Given the description of an element on the screen output the (x, y) to click on. 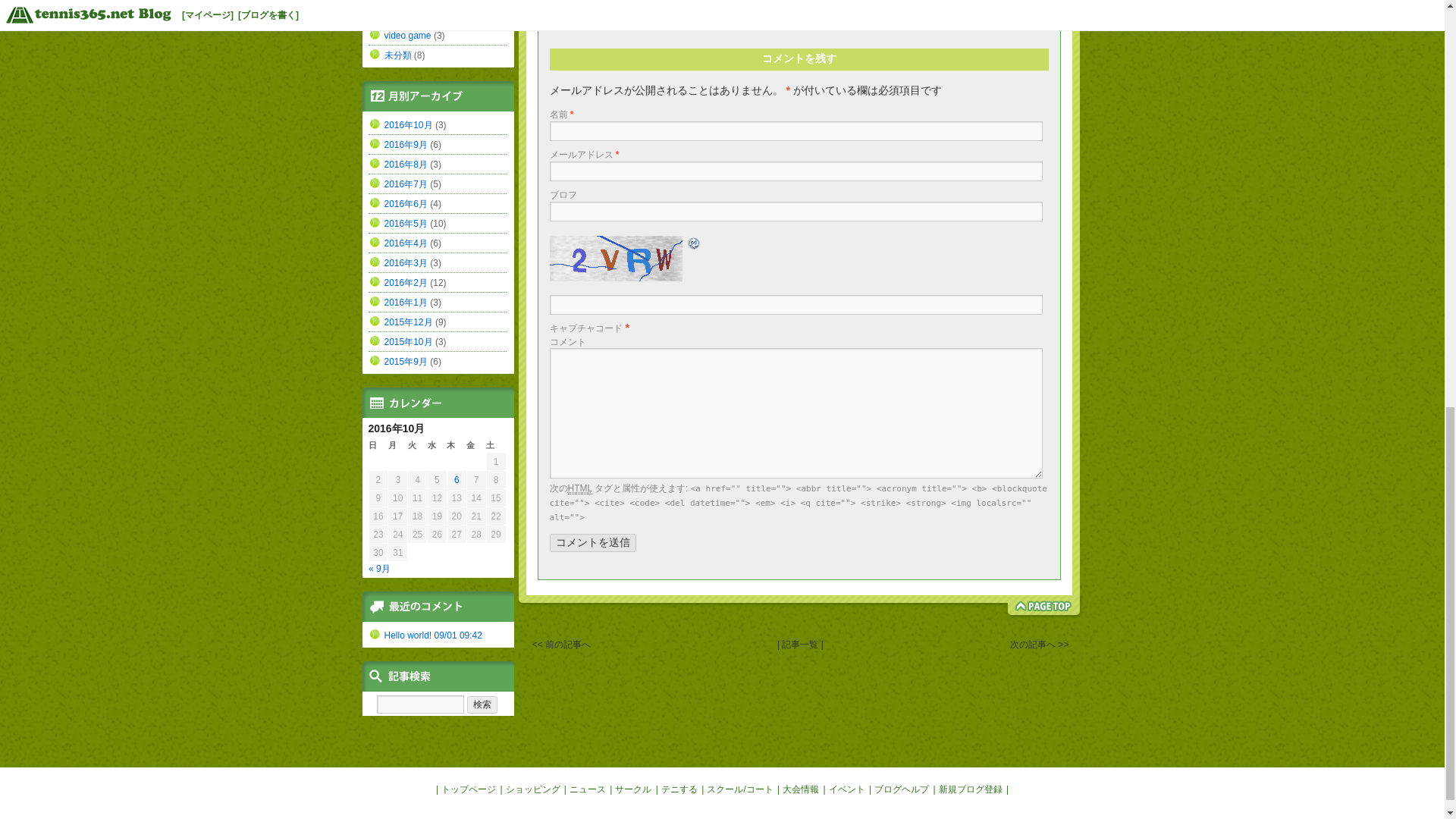
HyperText Markup Language (579, 488)
cheap fifa coins (415, 15)
buy cs go skins (414, 0)
buy fifa 17 coins (714, 2)
video game (407, 35)
cheap fifa coins (619, 2)
